Given the description of an element on the screen output the (x, y) to click on. 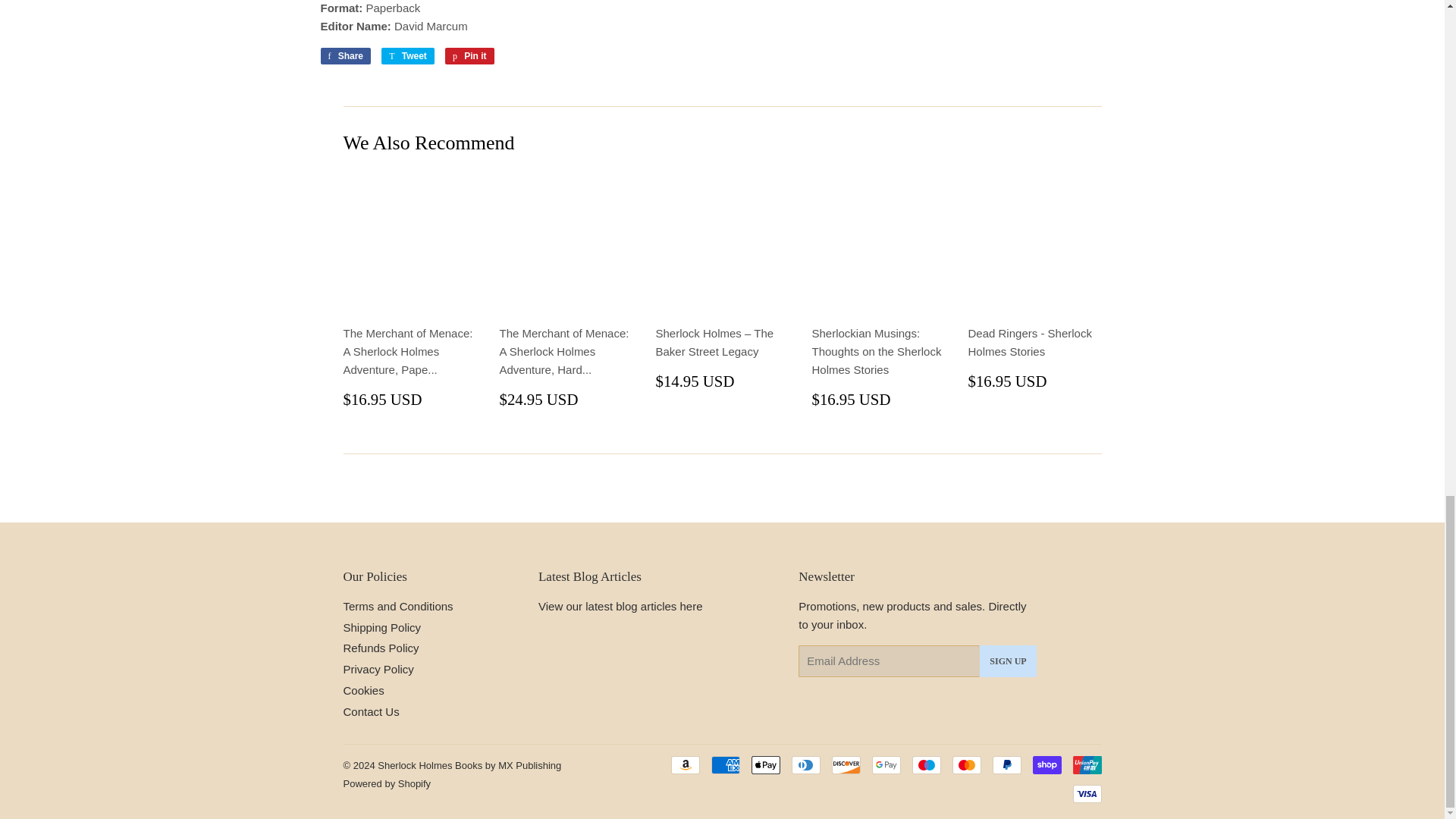
Shop Pay (1046, 764)
News (620, 605)
Discover (845, 764)
Google Pay (886, 764)
Diners Club (806, 764)
American Express (725, 764)
Tweet on Twitter (407, 55)
Apple Pay (764, 764)
Maestro (925, 764)
Visa (1085, 793)
